Given the description of an element on the screen output the (x, y) to click on. 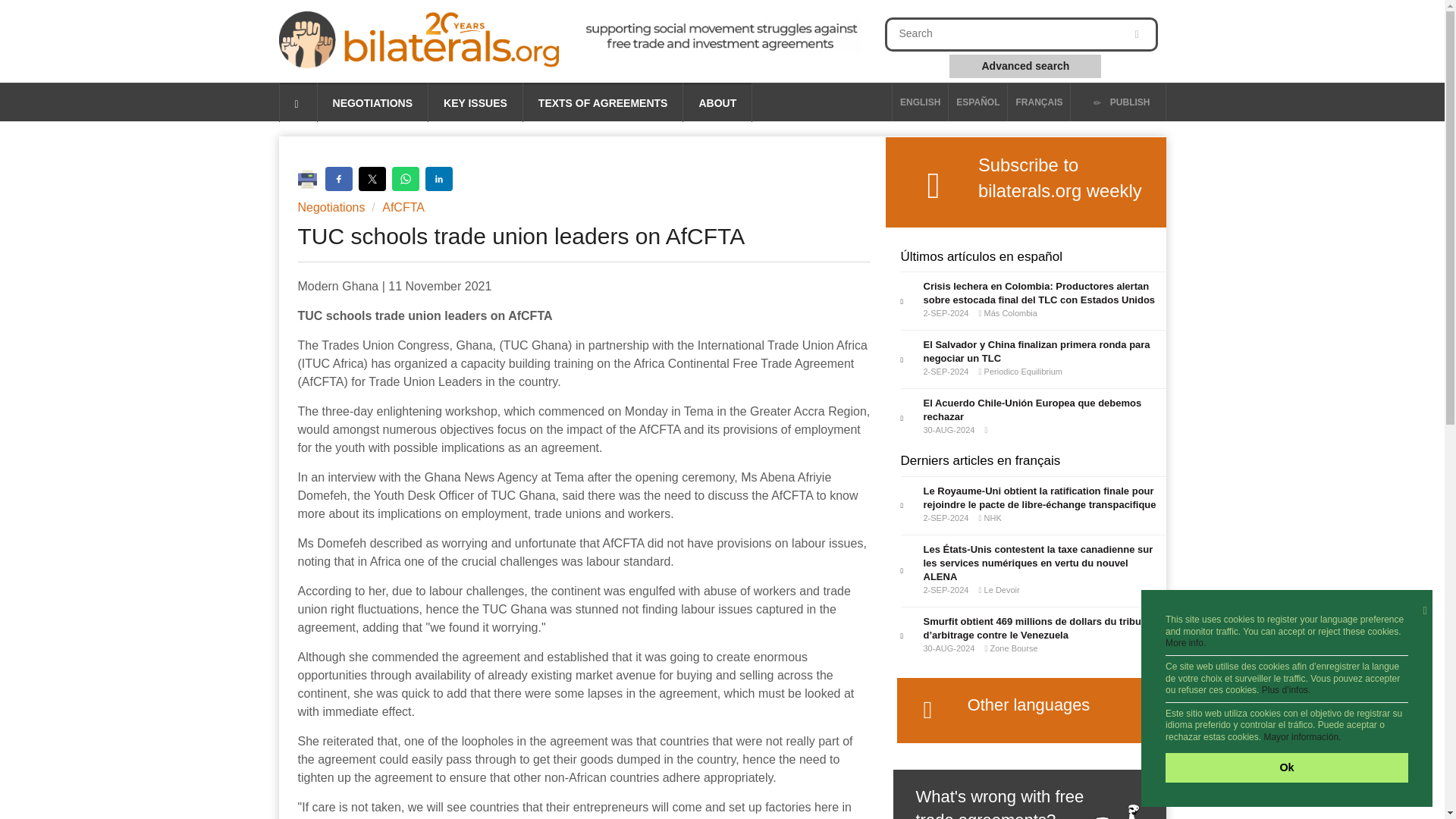
Ok (1286, 767)
print (310, 177)
More info. (1185, 643)
